Given the description of an element on the screen output the (x, y) to click on. 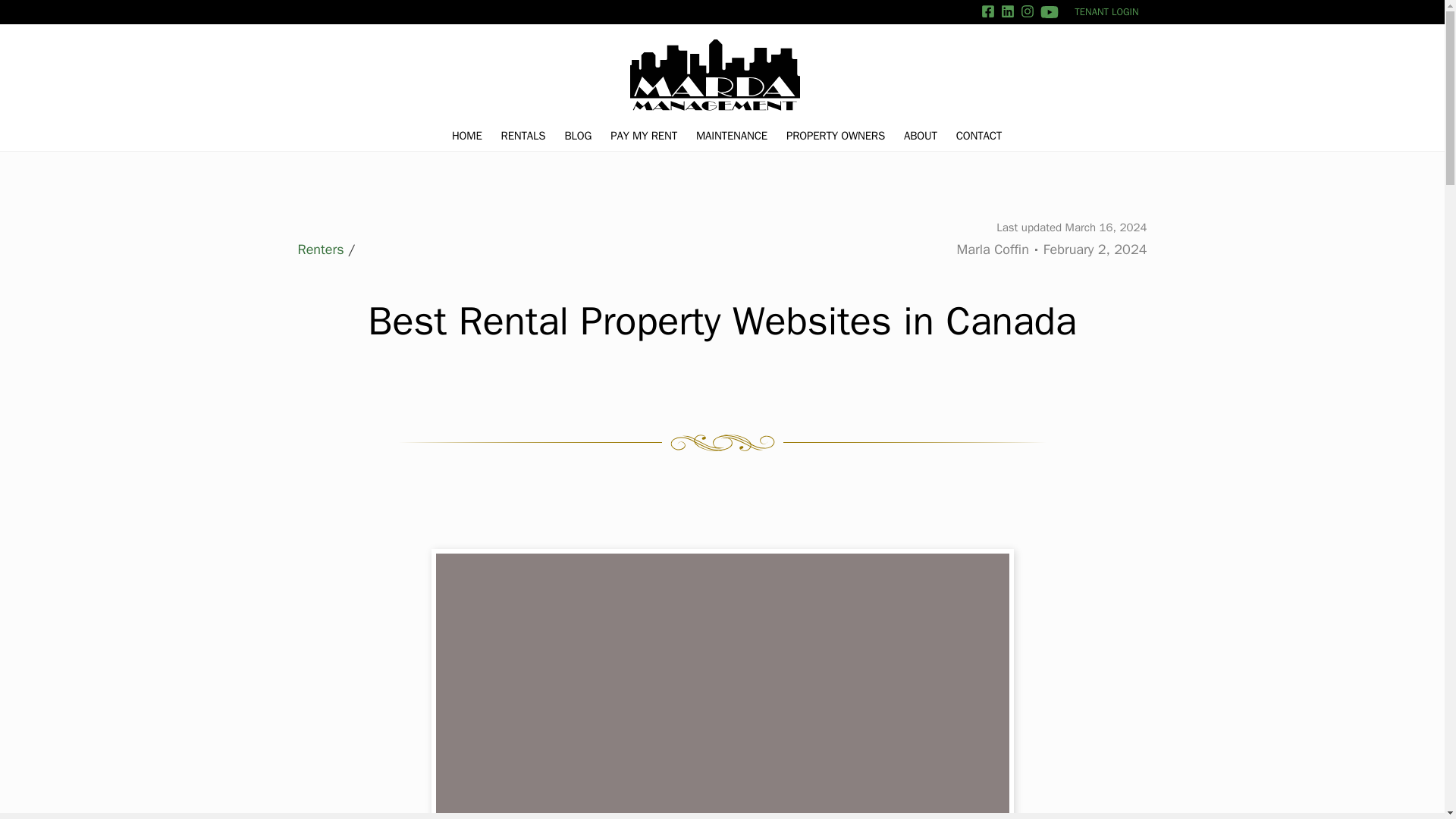
RENTALS (523, 135)
MAINTENANCE (731, 135)
TENANT LOGIN (1106, 12)
Renters (320, 248)
HOME (466, 135)
PAY MY RENT (643, 135)
CONTACT (978, 135)
PROPERTY OWNERS (835, 135)
BLOG (577, 135)
ABOUT (920, 135)
